Given the description of an element on the screen output the (x, y) to click on. 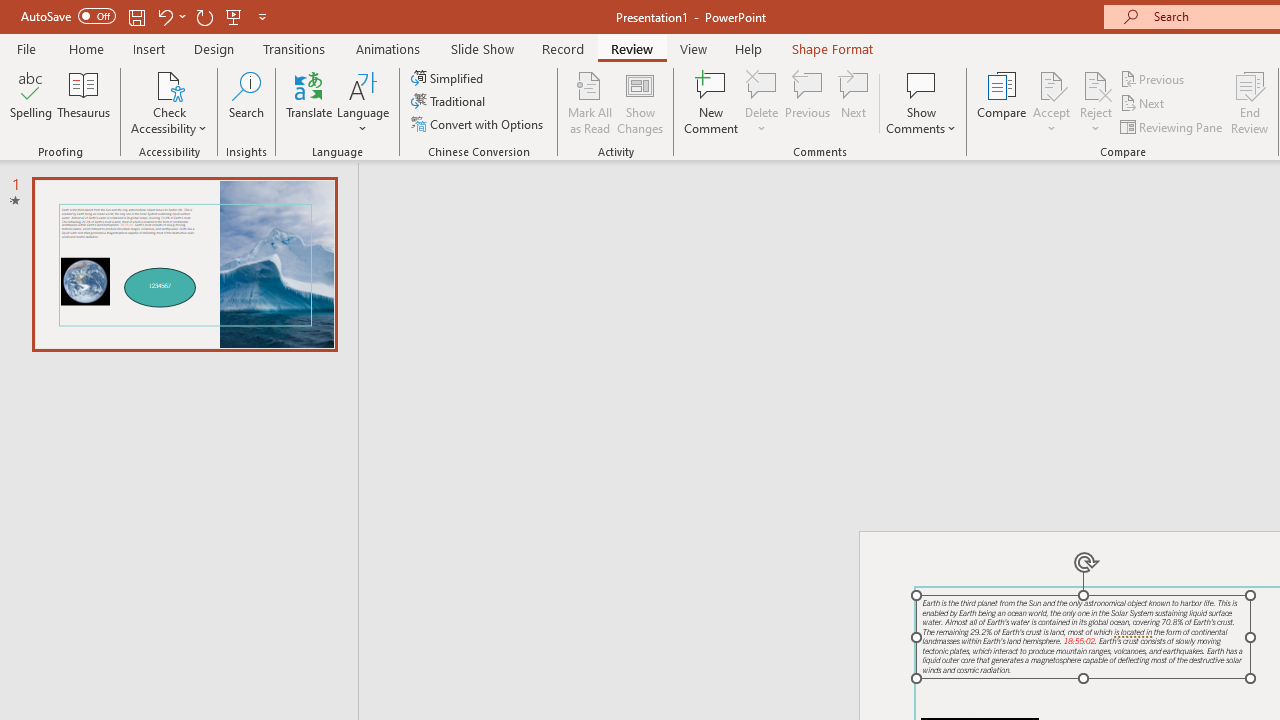
Previous (1153, 78)
Reject Change (1096, 84)
Delete (762, 84)
